Given the description of an element on the screen output the (x, y) to click on. 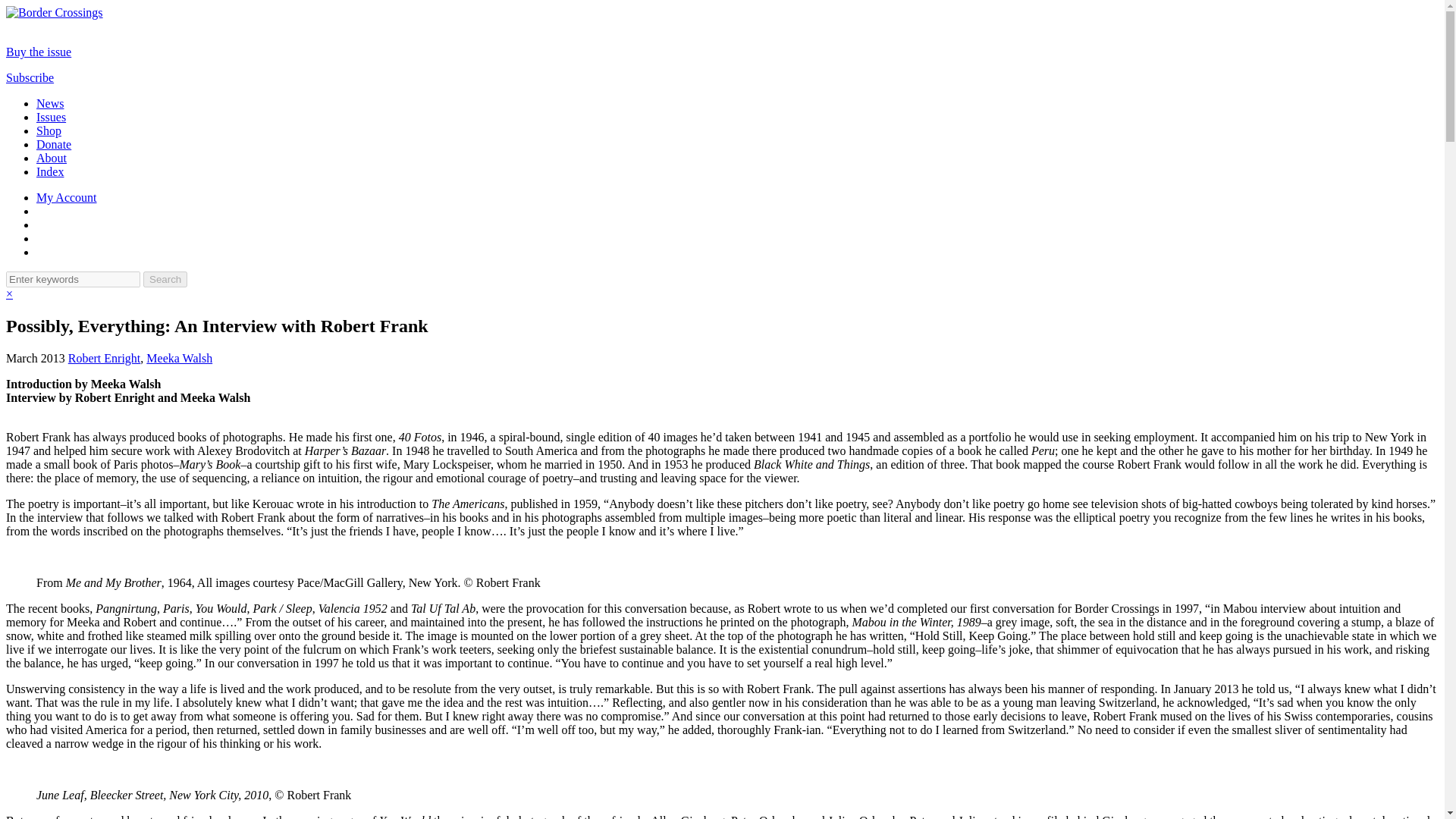
Robert Enright (104, 358)
Index (50, 171)
About (51, 157)
News (50, 103)
Search (164, 279)
Issues (50, 116)
Meeka Walsh (179, 358)
Subscribe (29, 77)
Donate (53, 144)
Shop (48, 130)
My Account (66, 196)
Buy the issue (38, 51)
